Given the description of an element on the screen output the (x, y) to click on. 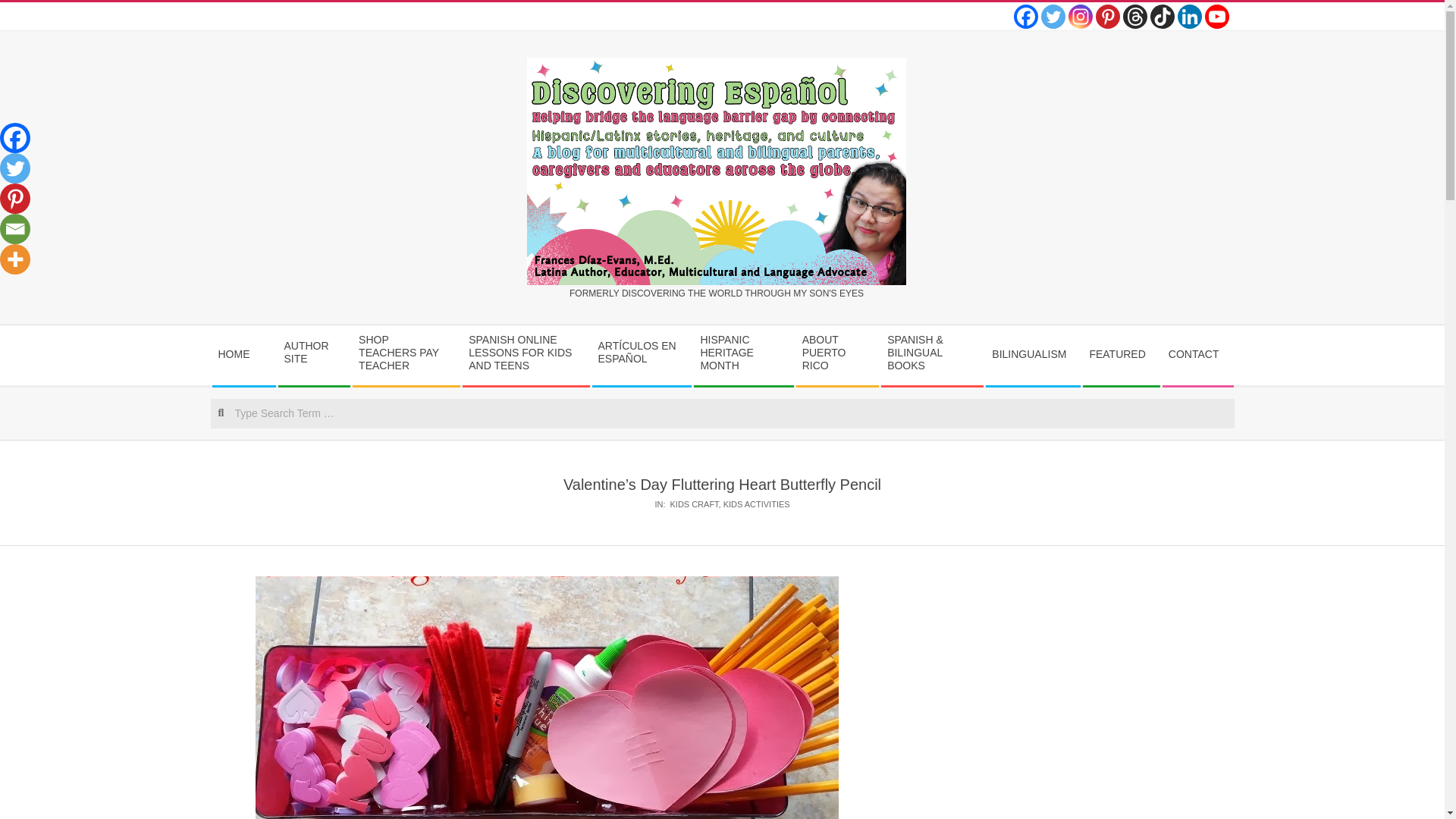
SPANISH ONLINE LESSONS FOR KIDS AND TEENS (525, 354)
Pinterest (1106, 16)
Youtube (1216, 16)
HISPANIC HERITAGE MONTH (743, 354)
ABOUT PUERTO RICO (836, 354)
Threads (1134, 16)
Facebook (1024, 16)
KIDS CRAFT, KIDS ACTIVITIES (729, 503)
Linkedin (1188, 16)
FEATURED (1120, 354)
